Given the description of an element on the screen output the (x, y) to click on. 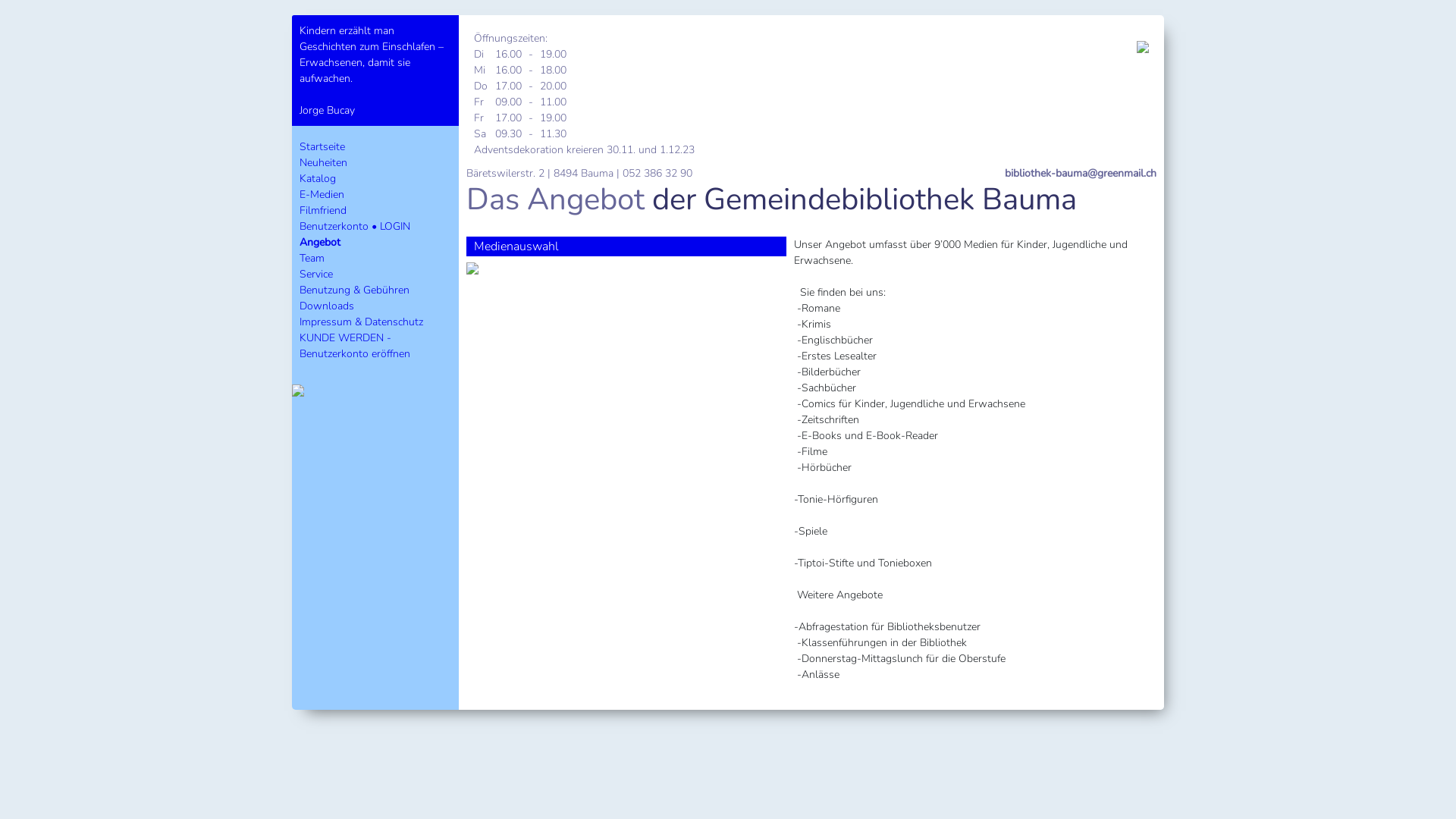
Filmfriend Element type: text (322, 210)
Impressum & Datenschutz Element type: text (361, 321)
Downloads Element type: text (326, 305)
Neuheiten Element type: text (323, 162)
E-Medien Element type: text (321, 194)
Service Element type: text (315, 273)
Team Element type: text (311, 258)
Angebot Element type: text (319, 242)
bibliothek-bauma@greenmail.ch Element type: text (1080, 173)
Katalog Element type: text (317, 178)
Startseite Element type: text (322, 146)
